Given the description of an element on the screen output the (x, y) to click on. 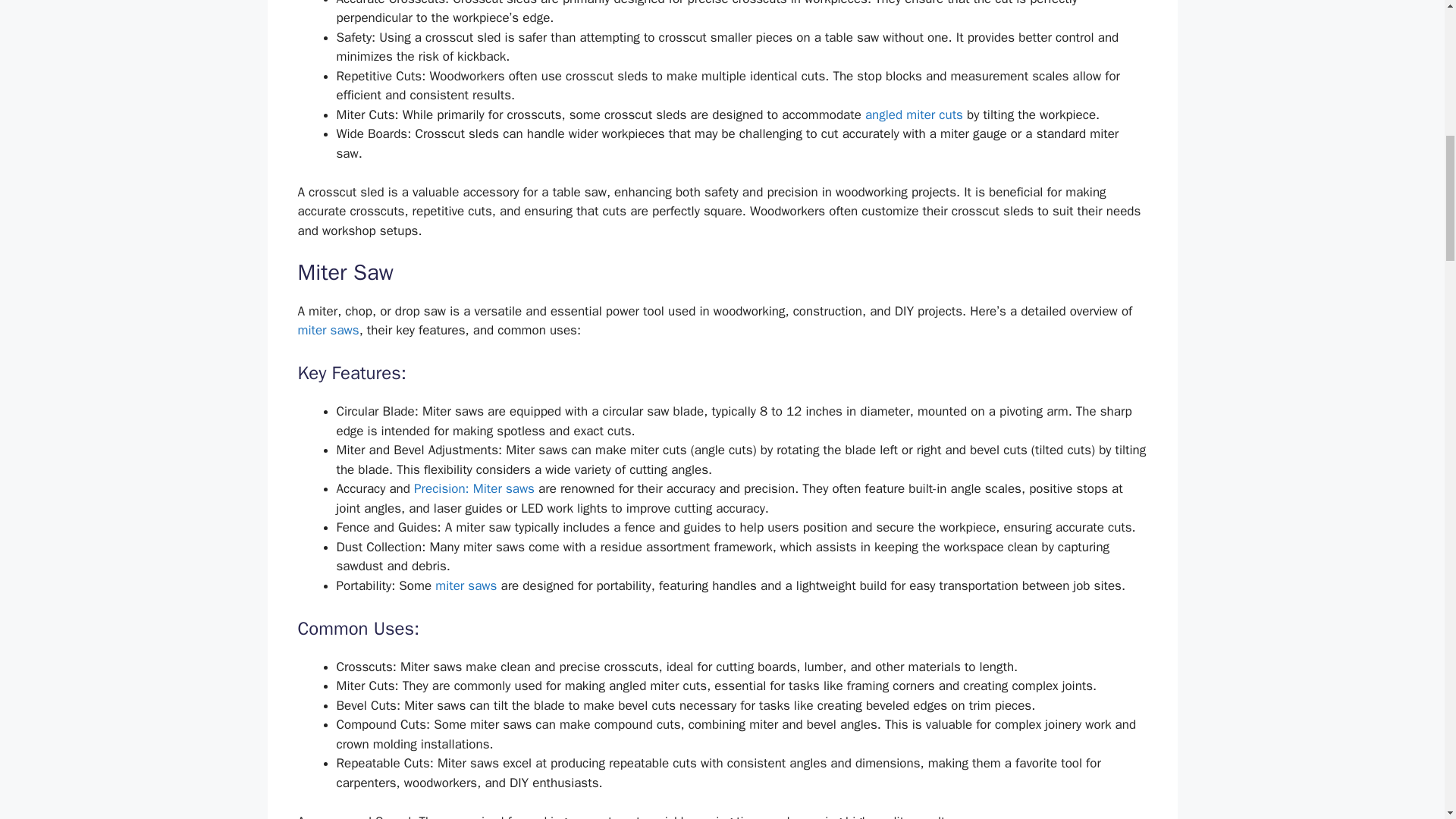
angled miter cuts (913, 114)
